Given the description of an element on the screen output the (x, y) to click on. 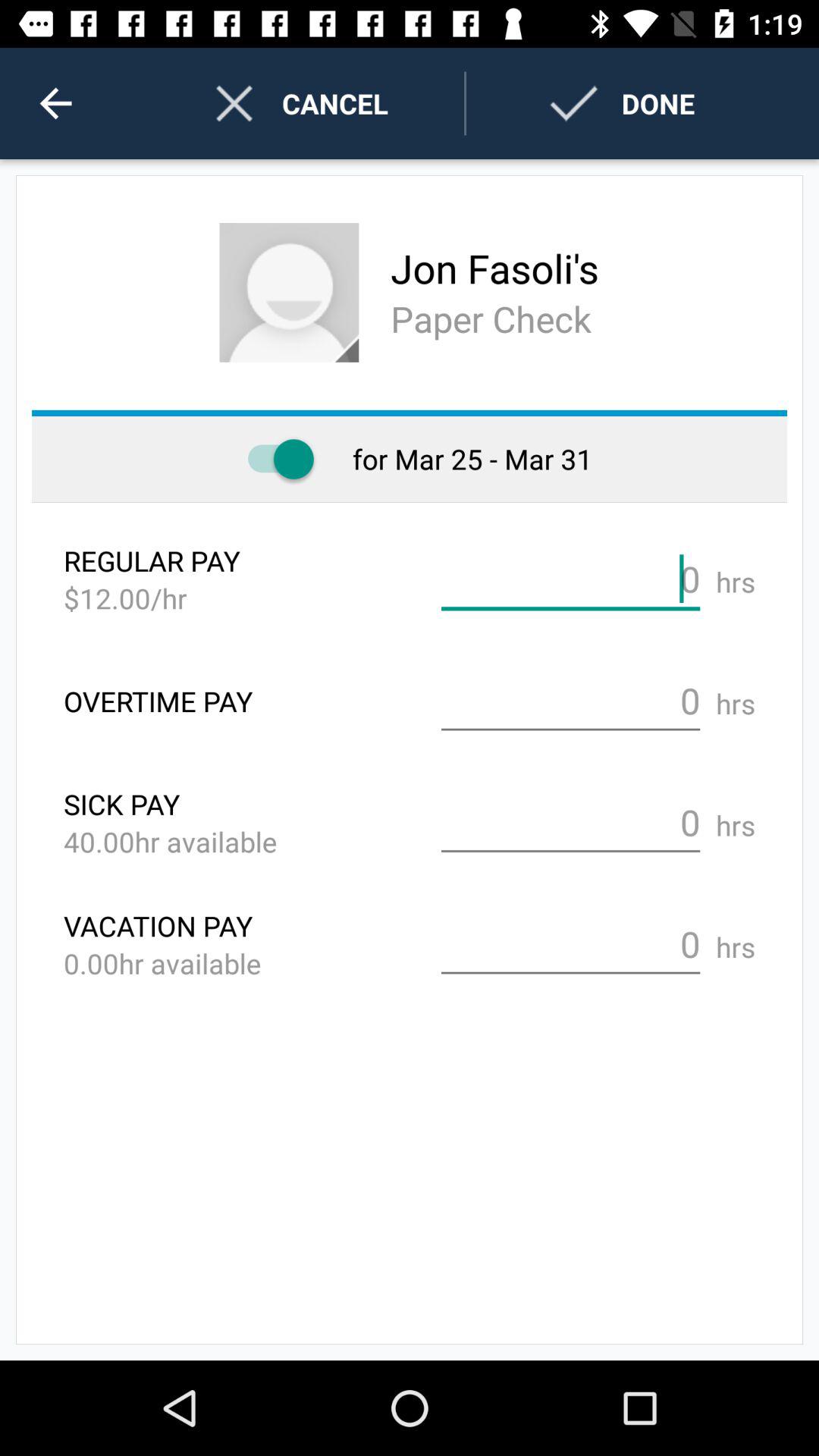
toggles paper check option (273, 459)
